Given the description of an element on the screen output the (x, y) to click on. 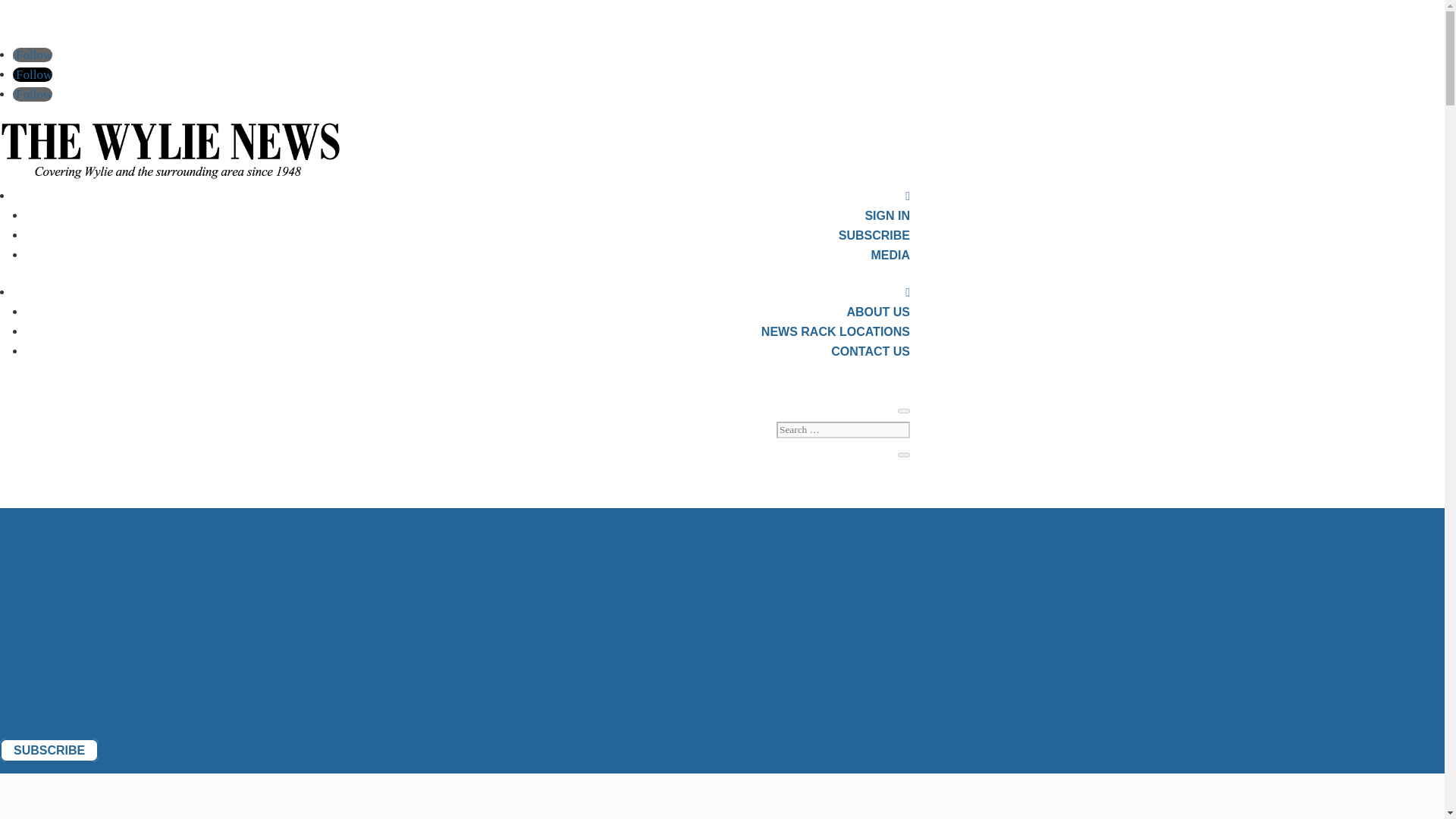
Follow (32, 54)
Follow (32, 93)
SIGN IN (887, 215)
Follow (32, 74)
SUBSCRIBE (874, 235)
Follow on Instagram (32, 93)
CONTACT US (870, 350)
Follow on Facebook (32, 54)
MEDIA (890, 254)
NEWS RACK LOCATIONS (835, 331)
